Given the description of an element on the screen output the (x, y) to click on. 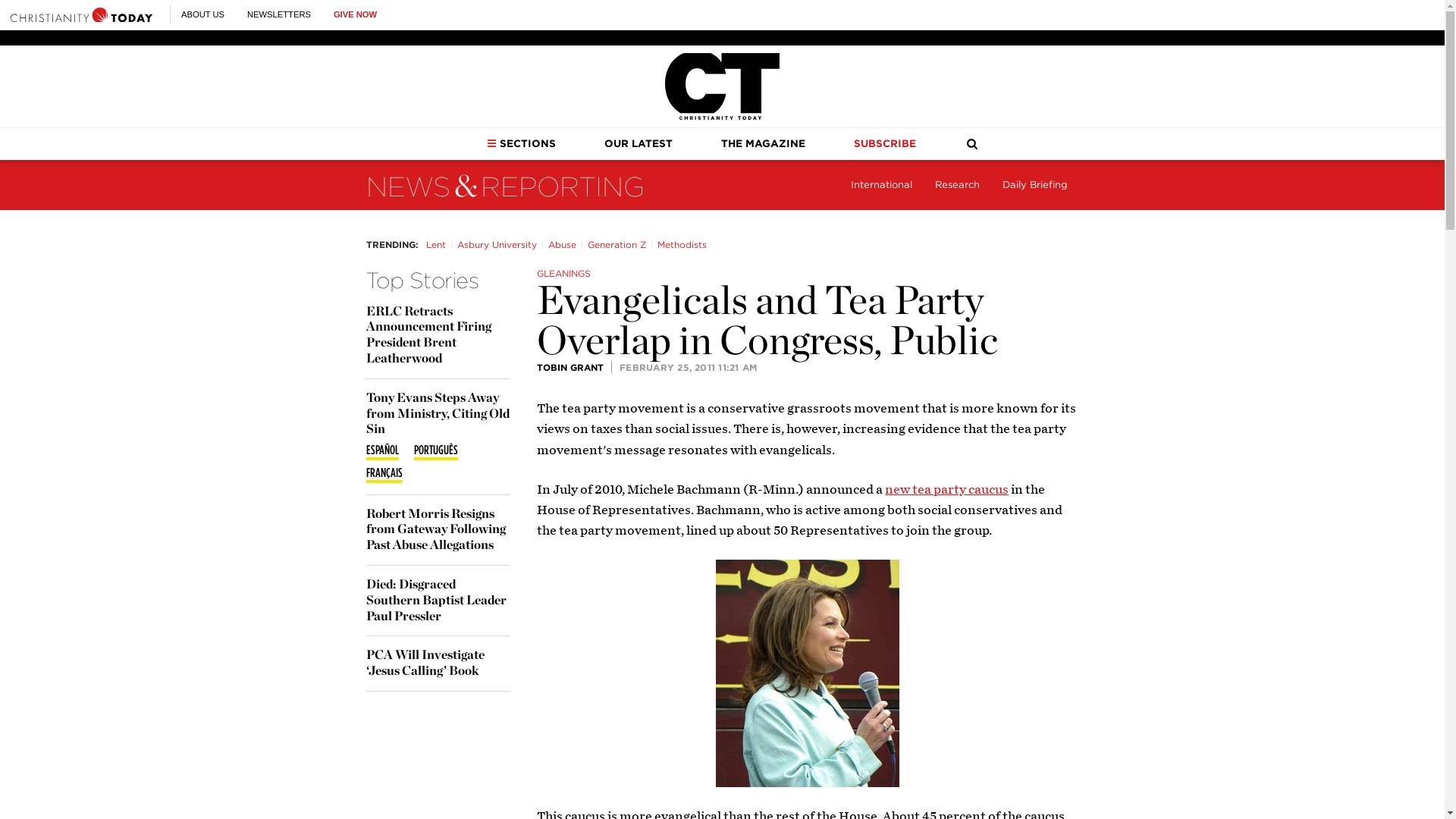
Sections Dropdown (491, 143)
Christianity Today (81, 14)
Portuguese (435, 451)
NEWSLETTERS (278, 14)
GIVE NOW (355, 14)
ABOUT US (202, 14)
French (383, 474)
Christianity Today (721, 86)
Spanish (381, 451)
SECTIONS (521, 143)
